Given the description of an element on the screen output the (x, y) to click on. 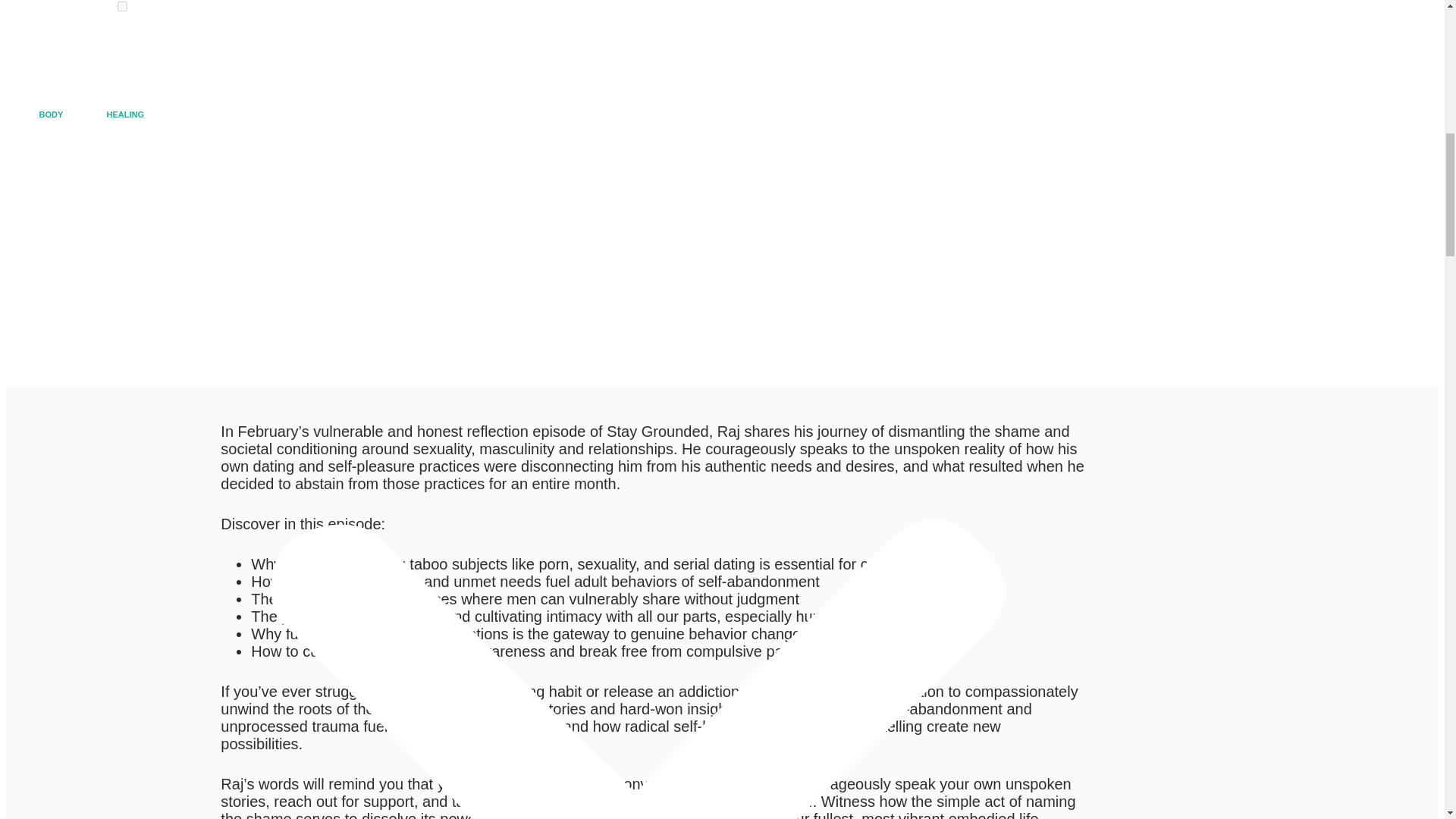
Embed Player (383, 314)
1 (122, 6)
